Given the description of an element on the screen output the (x, y) to click on. 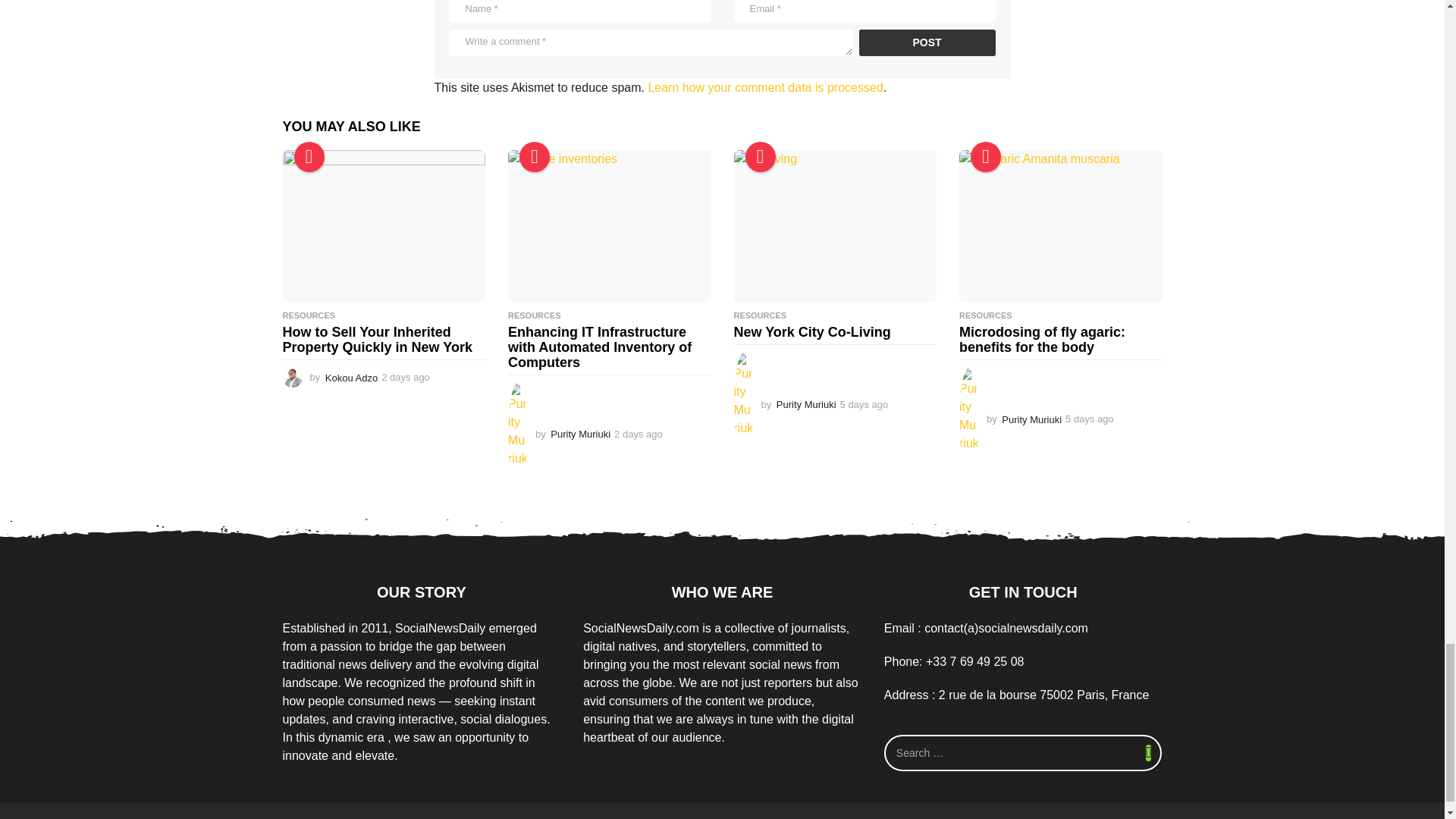
New York City Co-Living (835, 225)
Microdosing of fly agaric: benefits for the body (1060, 225)
Post (926, 42)
Learn how your comment data is processed (764, 87)
How to Sell Your Inherited Property Quickly in New York (383, 225)
Hot (759, 156)
Trending (534, 156)
Post (926, 42)
Trending (986, 156)
Trending (309, 156)
